Given the description of an element on the screen output the (x, y) to click on. 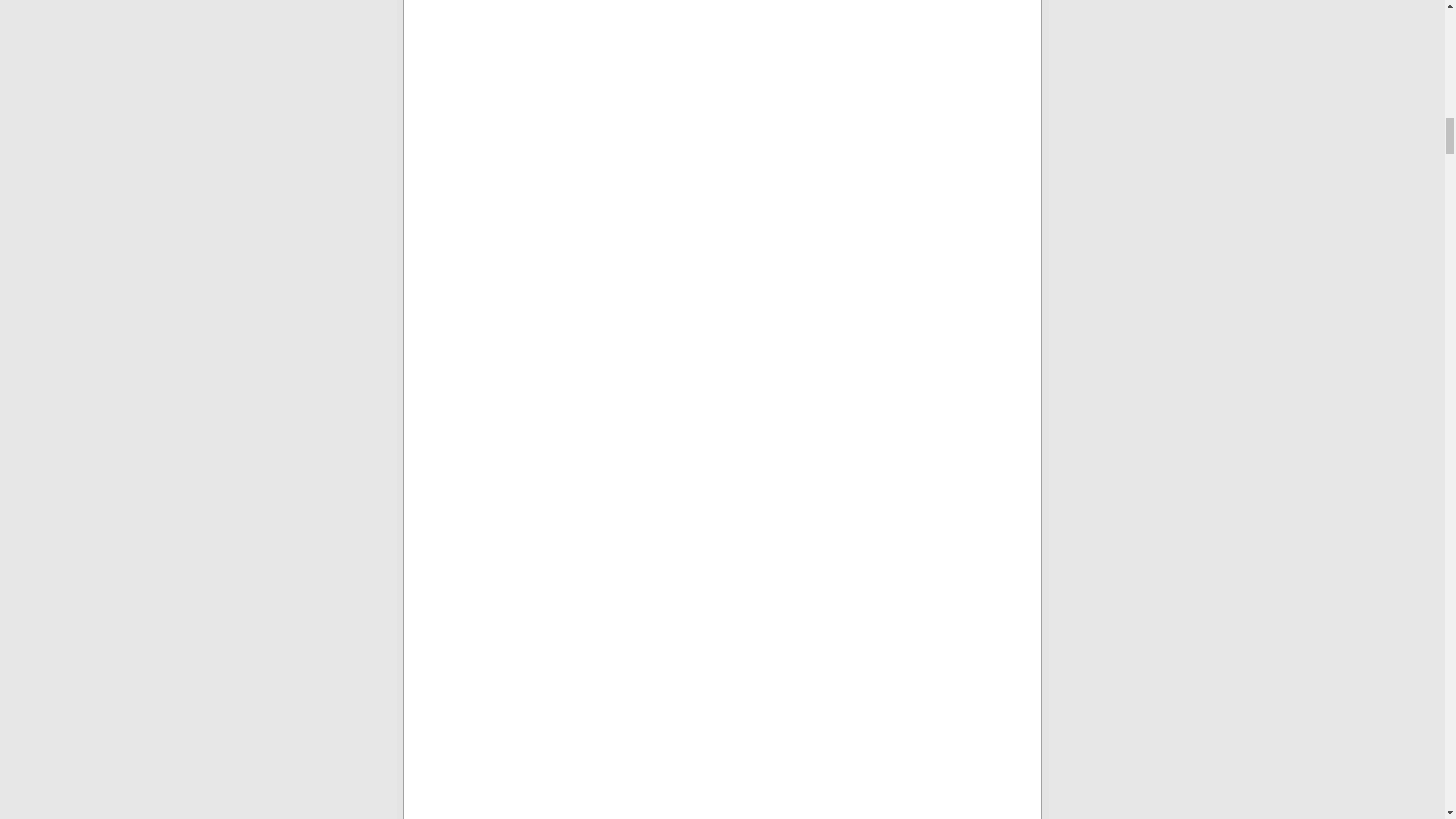
3 (592, 106)
4 (592, 416)
5 (592, 687)
